Given the description of an element on the screen output the (x, y) to click on. 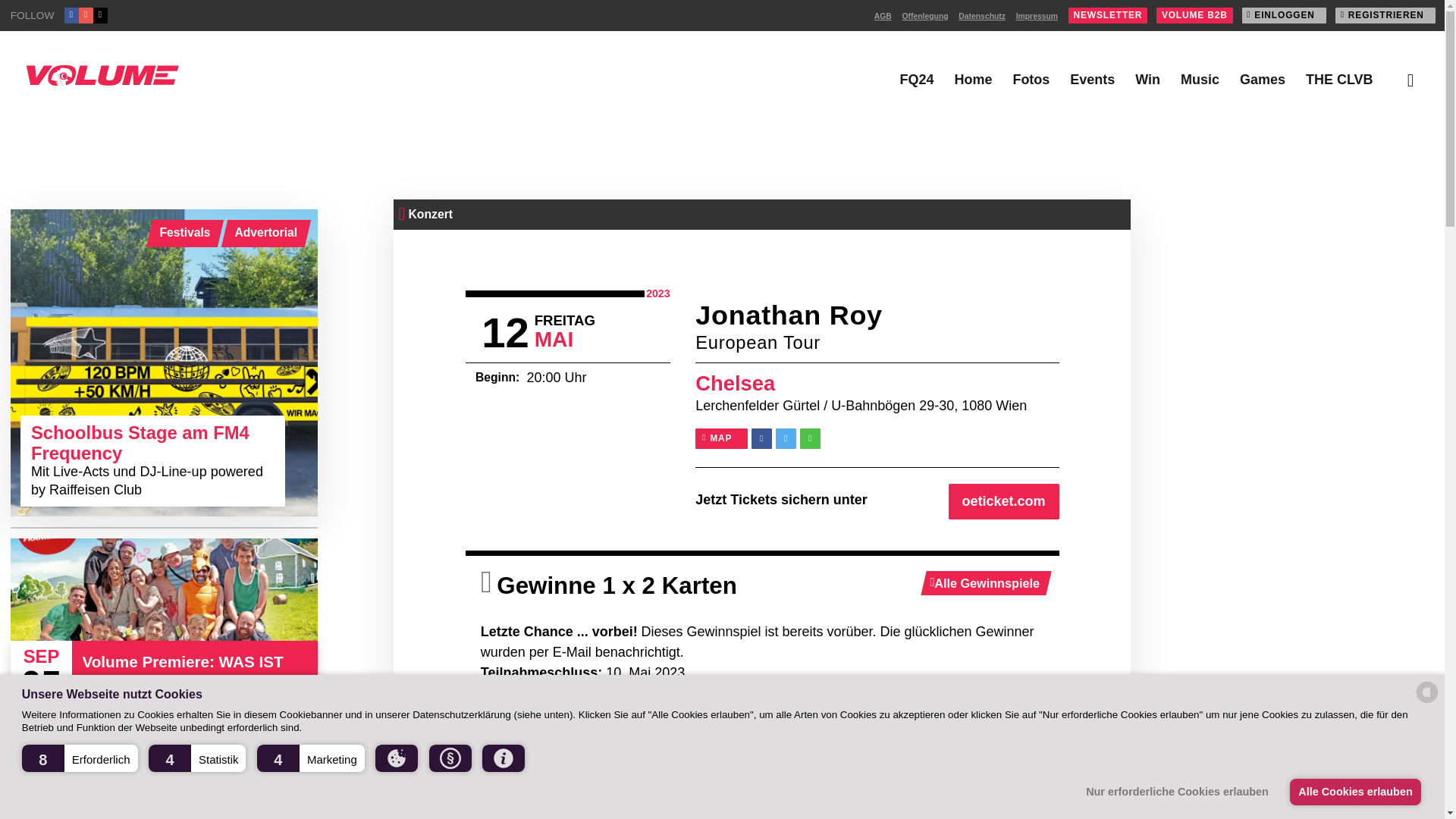
Konzert (429, 214)
Alle Gewinnspiele (985, 582)
Nur erforderliche Cookies erlauben (1181, 791)
oeticket.com (1004, 501)
AGB (883, 16)
Impressum (1037, 16)
Fotos (1030, 79)
THE CLVB (1339, 79)
Music (1200, 79)
Home (972, 79)
